Given the description of an element on the screen output the (x, y) to click on. 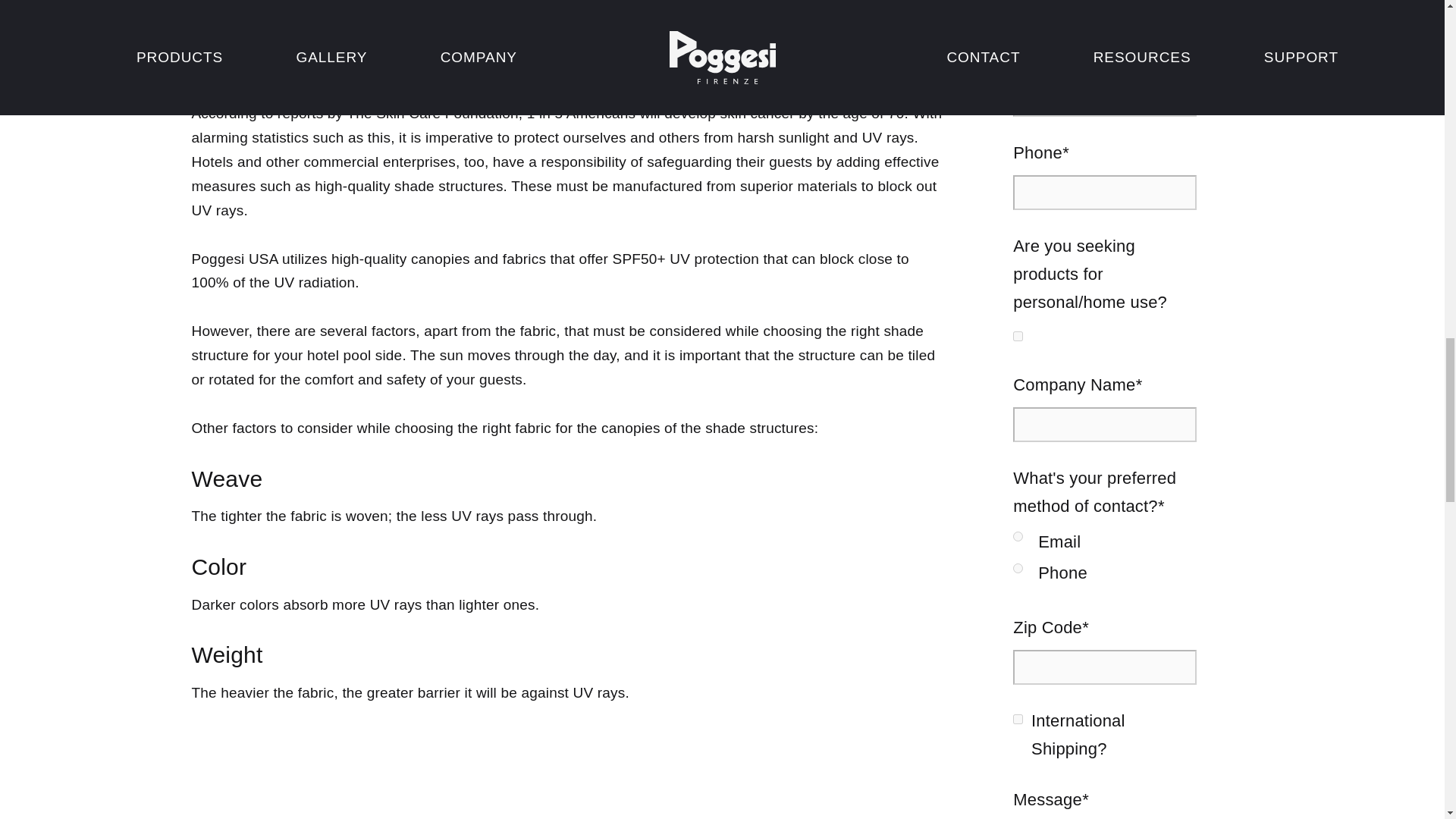
Email (1018, 536)
Phone (1018, 568)
1 (1018, 718)
1 (1018, 336)
